Given the description of an element on the screen output the (x, y) to click on. 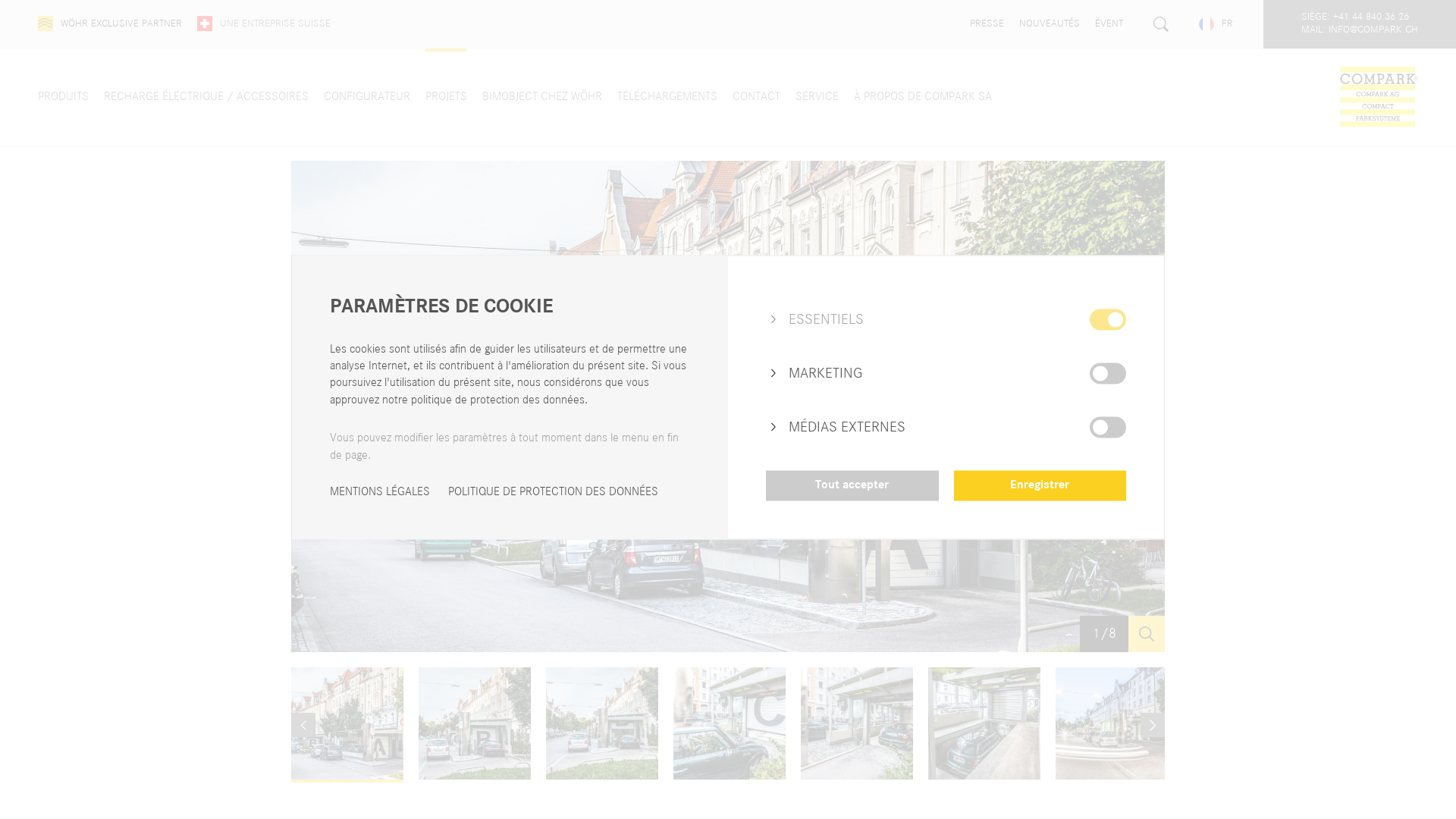
PRODUITS Element type: text (62, 96)
FR Element type: text (1215, 24)
Previous Element type: text (303, 724)
Previous Element type: text (309, 406)
+41 44 840 36 26 Element type: text (1370, 17)
PROJETS Element type: text (446, 96)
Next Element type: text (1152, 724)
PRESSE Element type: text (986, 24)
INFO@COMPARK.CH Element type: text (1373, 30)
SERVICE Element type: text (816, 96)
CONFIGURATEUR Element type: text (366, 96)
Next Element type: text (1146, 406)
CONTACT Element type: text (756, 96)
